Given the description of an element on the screen output the (x, y) to click on. 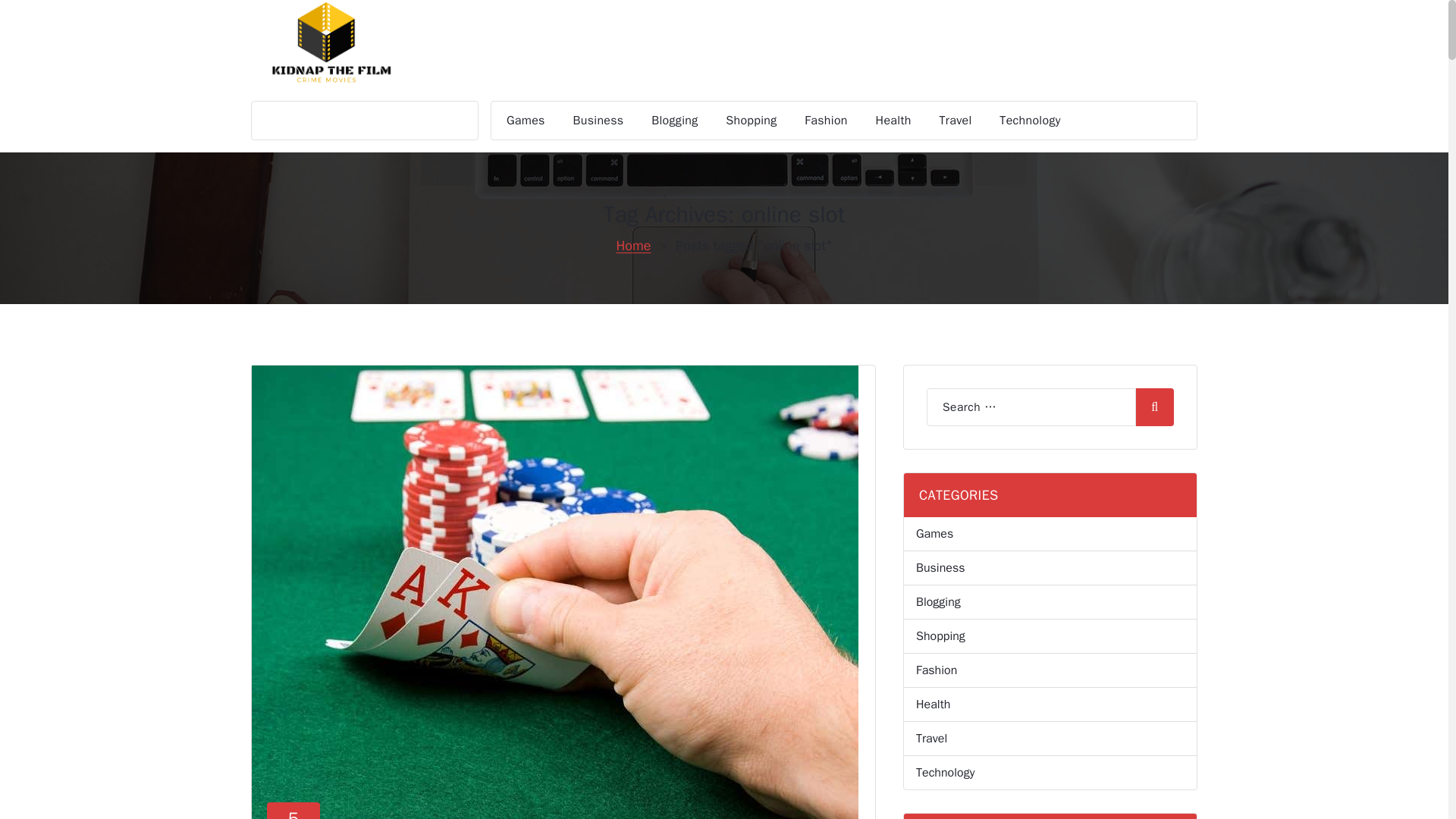
Home (632, 245)
Games (525, 120)
Business (598, 120)
Games (525, 120)
Health (893, 120)
Shopping (751, 120)
Travel (955, 120)
Blogging (674, 120)
Fashion (826, 120)
Business (598, 120)
Technology (1030, 120)
Health (293, 810)
Blogging (893, 120)
Technology (674, 120)
